Given the description of an element on the screen output the (x, y) to click on. 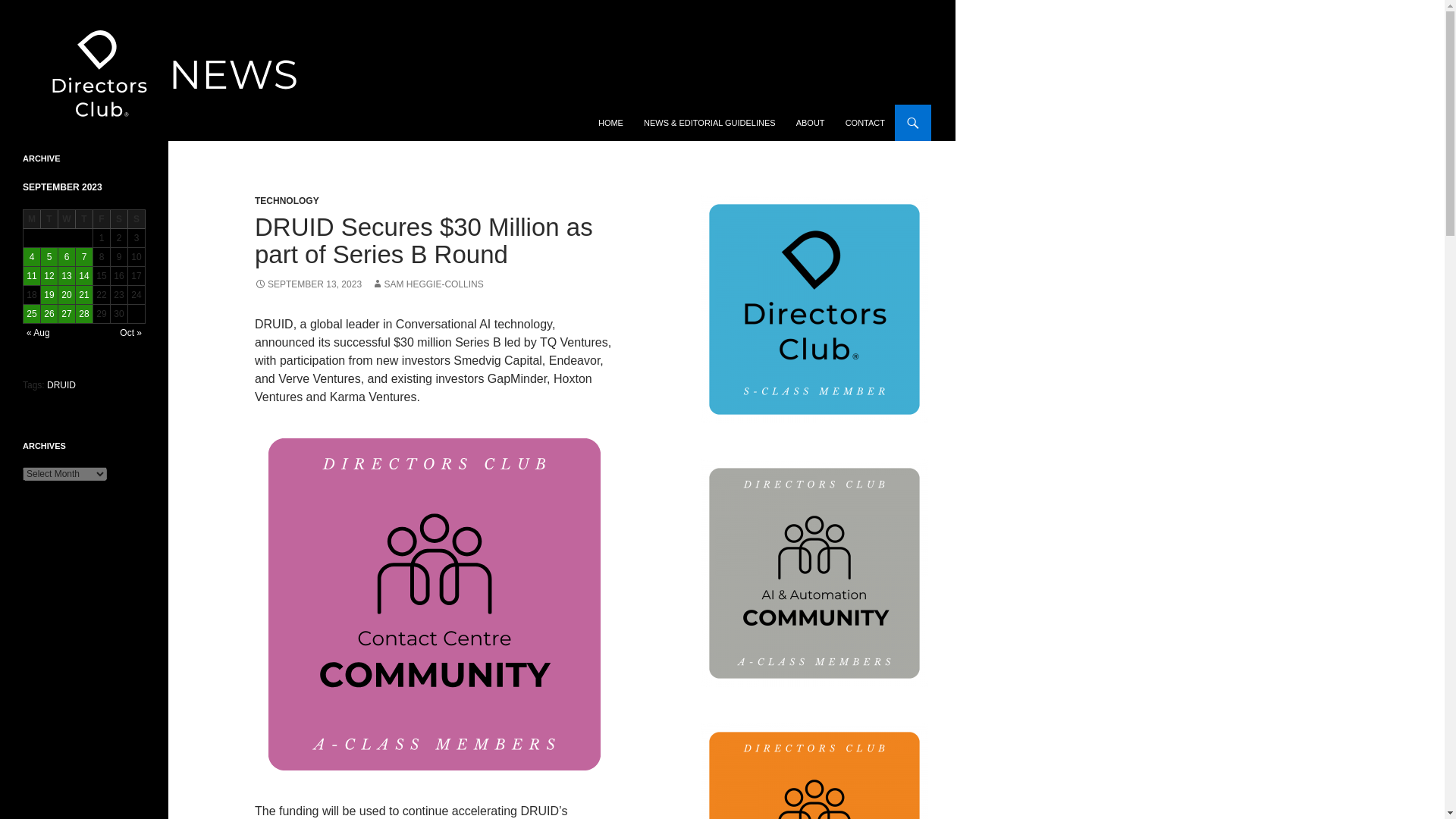
13 (66, 275)
19 (49, 294)
12 (49, 275)
SEPTEMBER 13, 2023 (307, 284)
Thursday (84, 219)
ABOUT (810, 122)
14 (84, 275)
Saturday (119, 219)
20 (66, 294)
11 (31, 275)
SAM HEGGIE-COLLINS (427, 284)
Directors Club News (89, 122)
Tuesday (49, 219)
TECHNOLOGY (286, 200)
5 (49, 257)
